Given the description of an element on the screen output the (x, y) to click on. 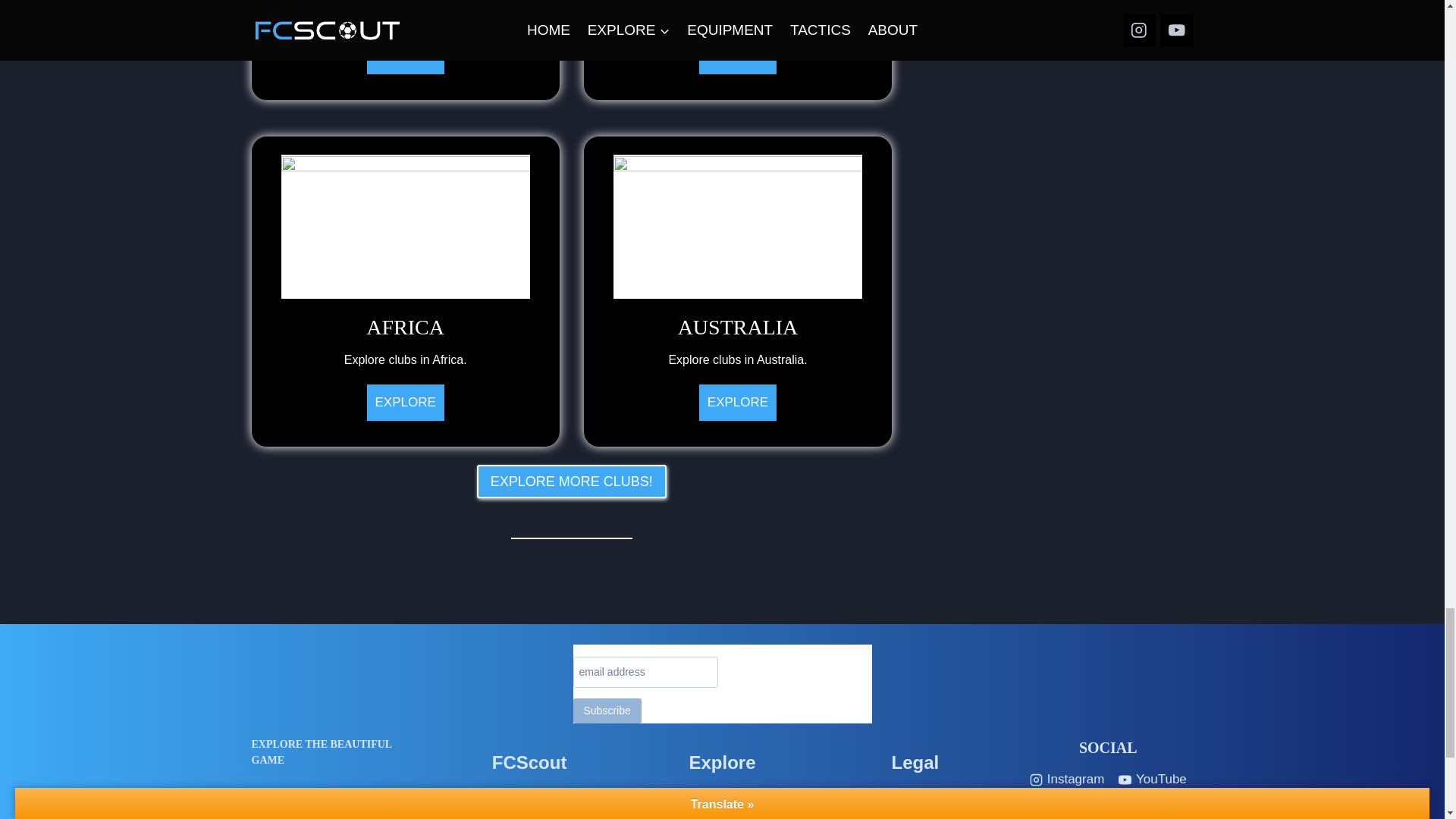
Subscribe (405, 291)
EXPLORE MORE CLUBS! (737, 291)
